Given the description of an element on the screen output the (x, y) to click on. 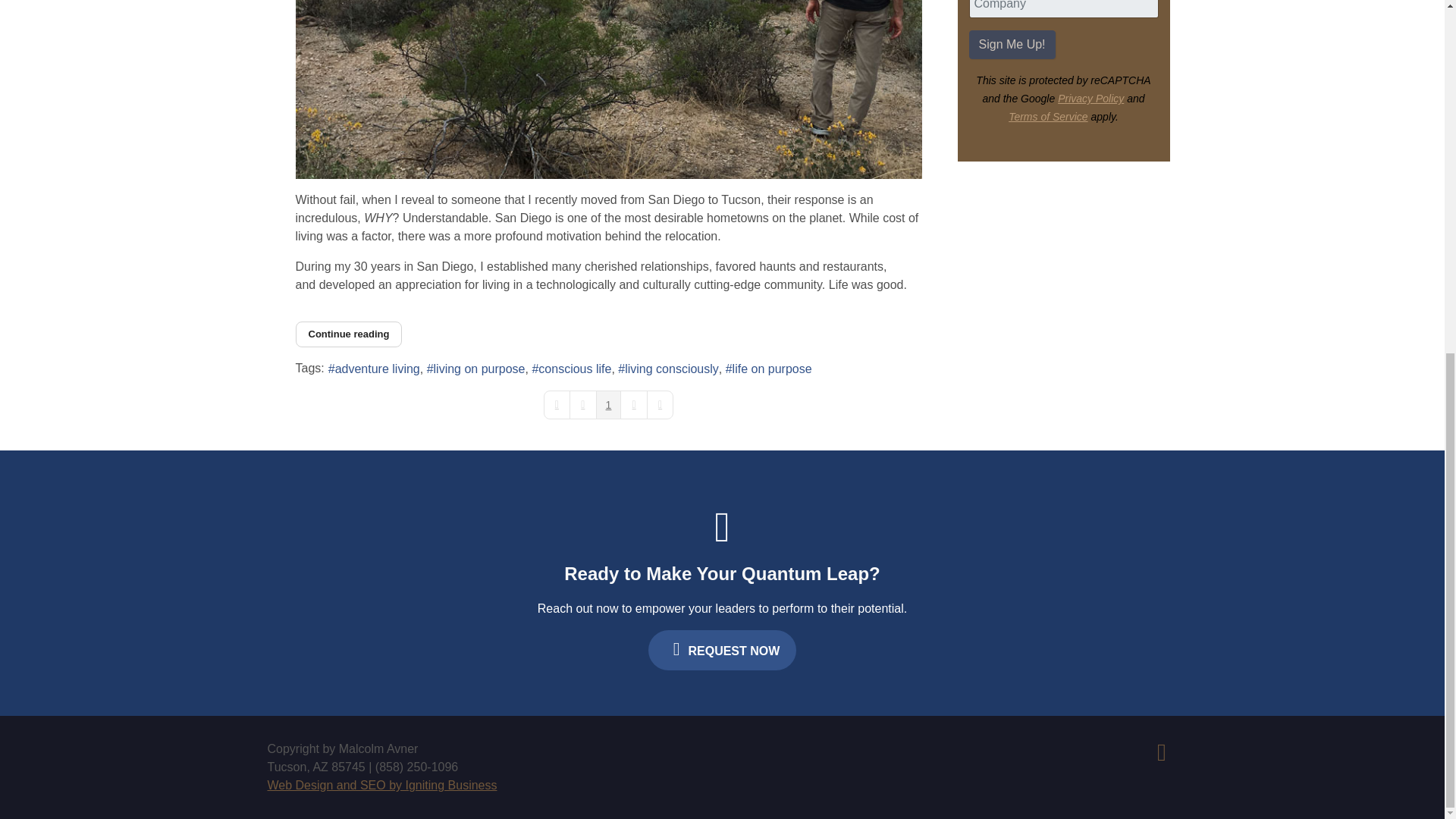
1 (608, 404)
Igniting Business (381, 784)
life on purpose (768, 369)
First Page (556, 404)
conscious life (571, 369)
Next Page (633, 404)
living consciously (668, 369)
adventure living (374, 369)
Continue reading (349, 334)
Previous Page (582, 404)
Last Page (660, 404)
living on purpose (475, 369)
